Given the description of an element on the screen output the (x, y) to click on. 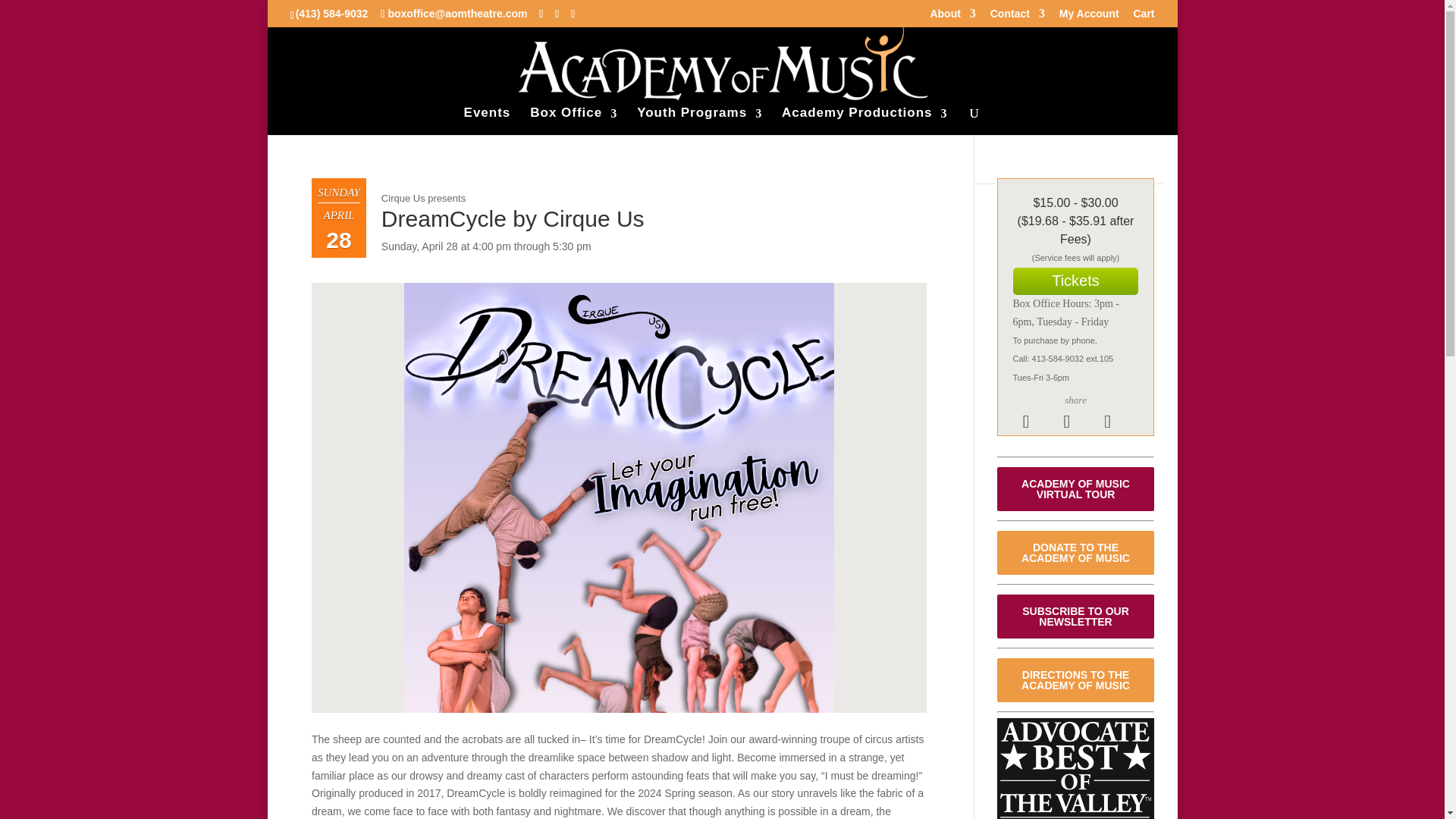
My Account (1089, 16)
Contact (1017, 16)
Events (487, 119)
Cart (1143, 16)
Box Office (573, 119)
About (952, 16)
Youth Programs (699, 119)
